Given the description of an element on the screen output the (x, y) to click on. 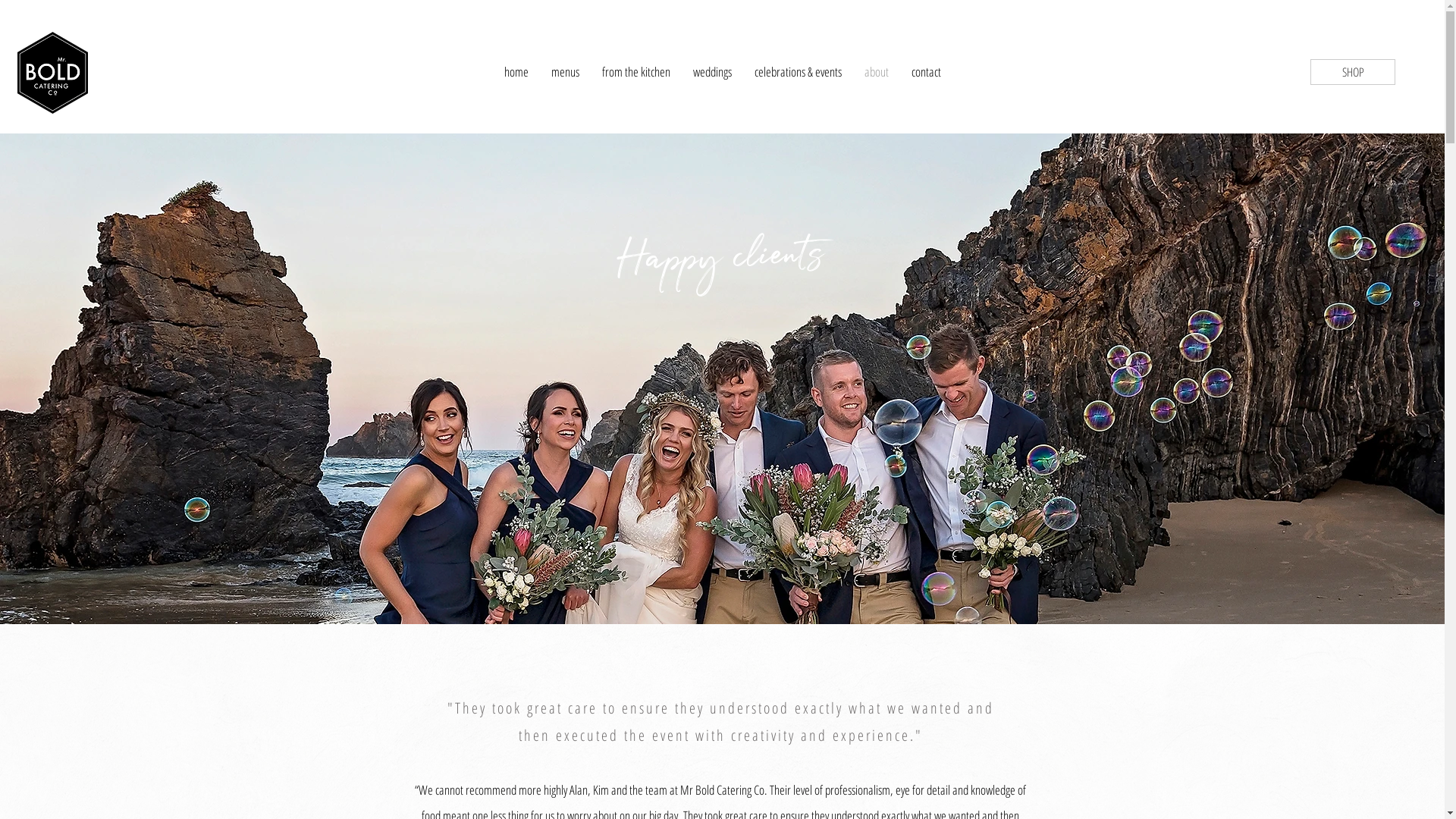
home Element type: text (515, 71)
celebrations & events Element type: text (798, 71)
SHOP Element type: text (1352, 71)
weddings Element type: text (711, 71)
about Element type: text (875, 71)
from the kitchen Element type: text (634, 71)
menus Element type: text (564, 71)
contact Element type: text (925, 71)
